Given the description of an element on the screen output the (x, y) to click on. 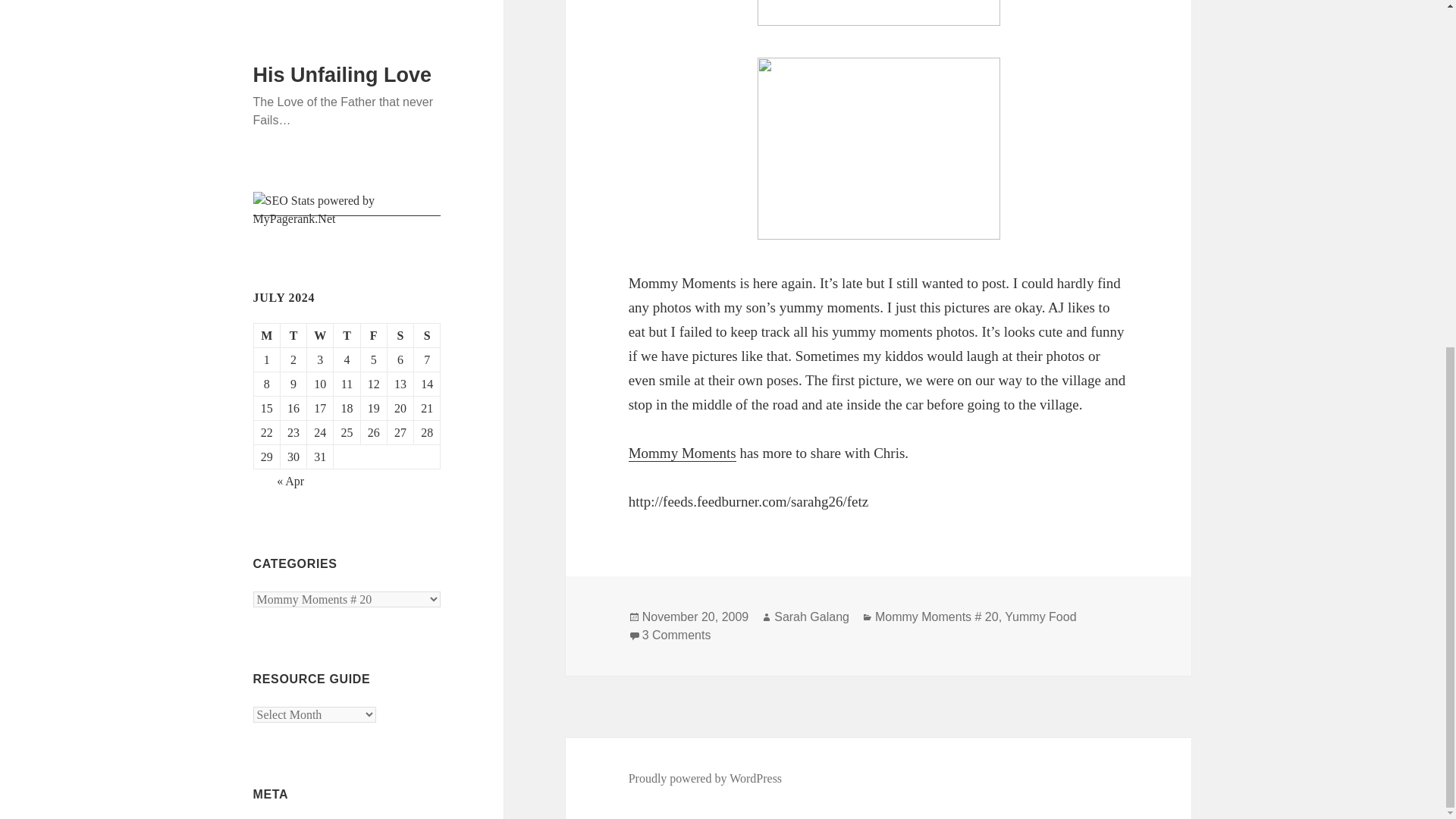
Yummy Food (1039, 617)
Comments feed (291, 292)
November 20, 2009 (695, 617)
Proudly powered by WordPress (704, 778)
Log in (269, 232)
sourcecoder (282, 440)
Entries feed (282, 262)
Nehemiah Superfood (304, 477)
Sarah Galang (811, 617)
Mommy Moments (682, 453)
UP (260, 404)
WordPress.org (288, 323)
